Given the description of an element on the screen output the (x, y) to click on. 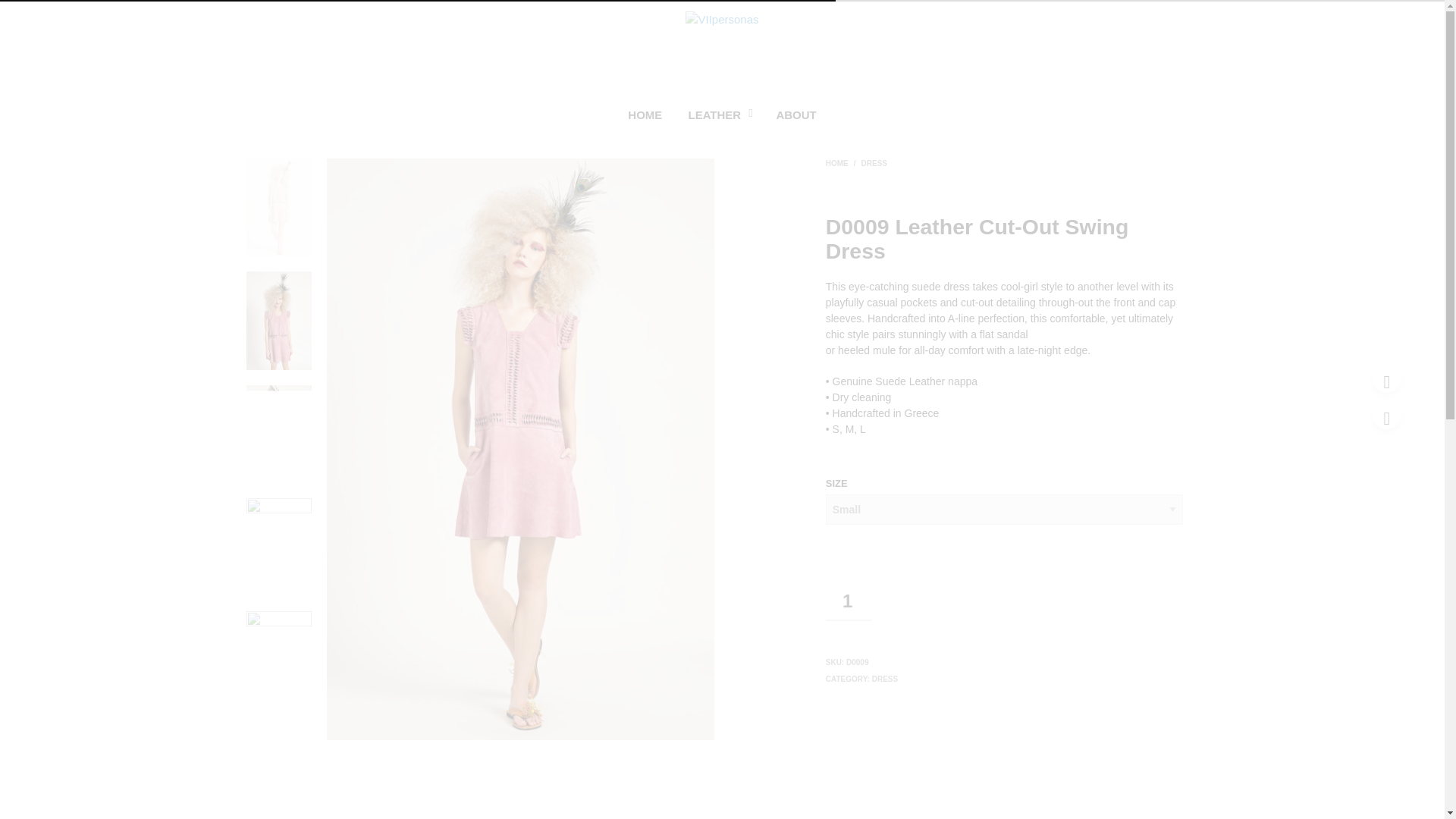
HOME (643, 114)
DRESS (874, 162)
ABOUT (795, 114)
Trasformable leather clothing (721, 48)
LEATHER (714, 114)
ADD TO CART (969, 598)
DRESS (885, 678)
HOME (839, 162)
1 (847, 601)
Qty (847, 601)
